Given the description of an element on the screen output the (x, y) to click on. 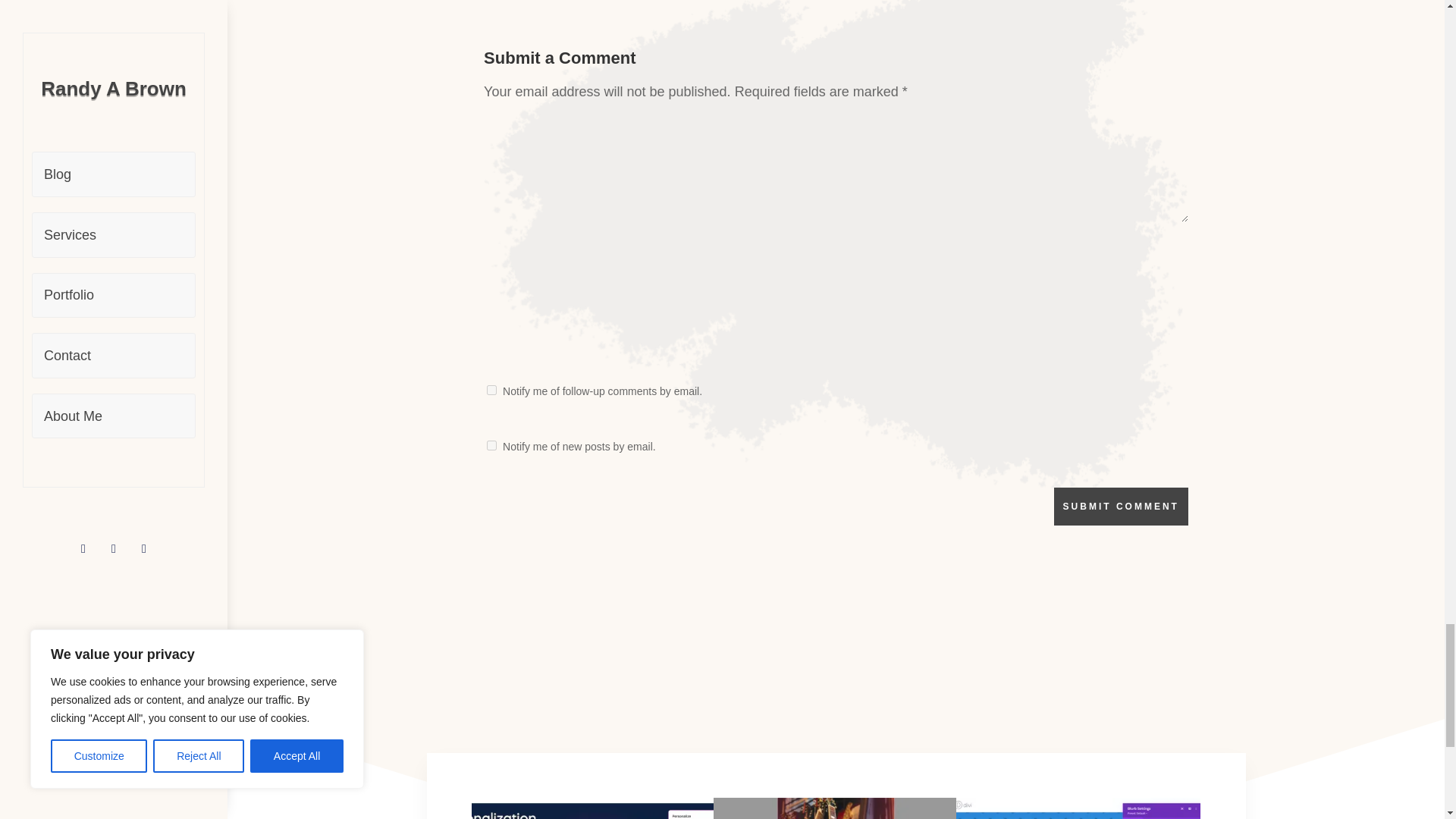
subscribe (491, 445)
subscribe (491, 389)
